Given the description of an element on the screen output the (x, y) to click on. 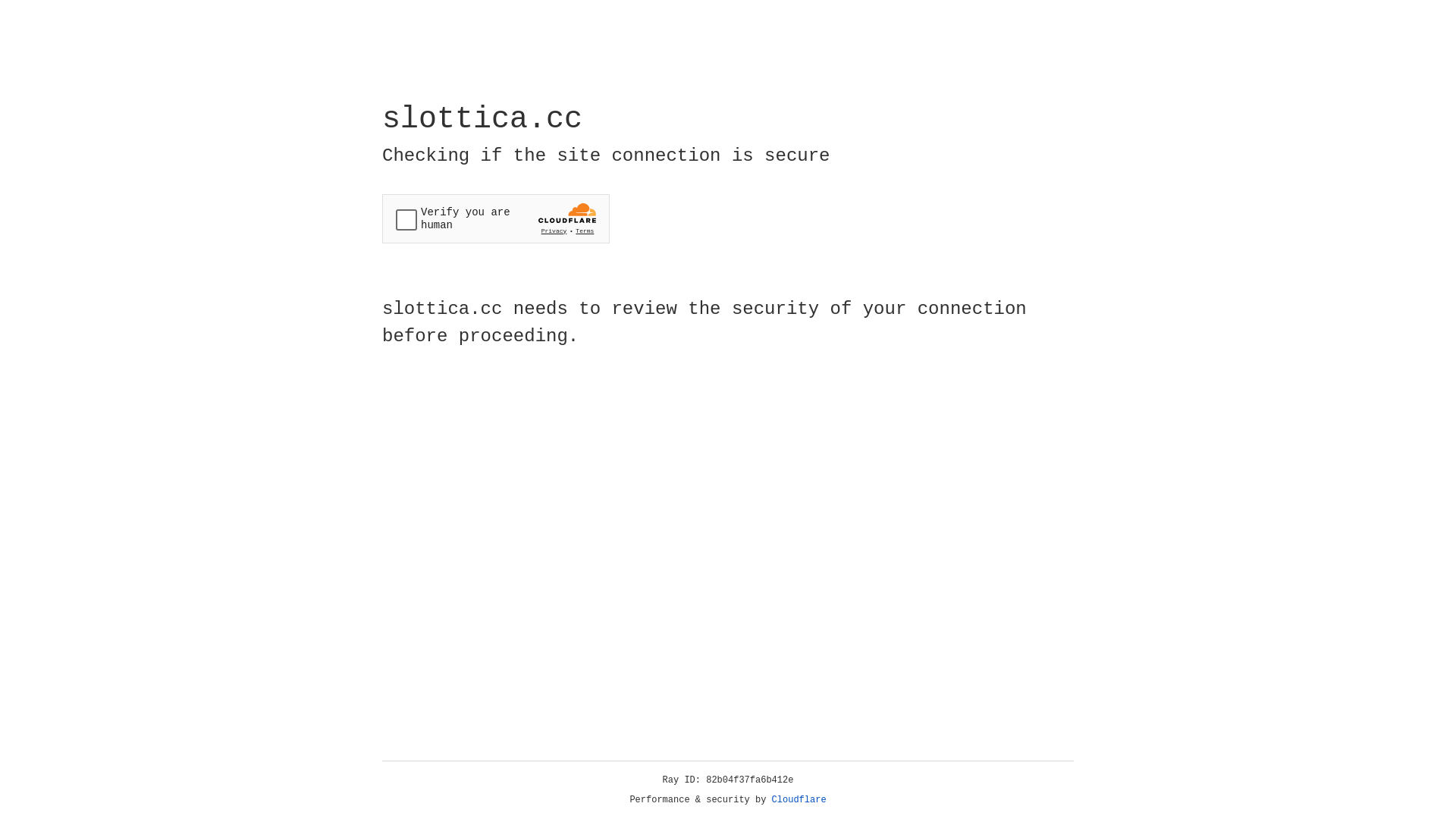
Cloudflare Element type: text (798, 799)
Widget containing a Cloudflare security challenge Element type: hover (495, 218)
